Given the description of an element on the screen output the (x, y) to click on. 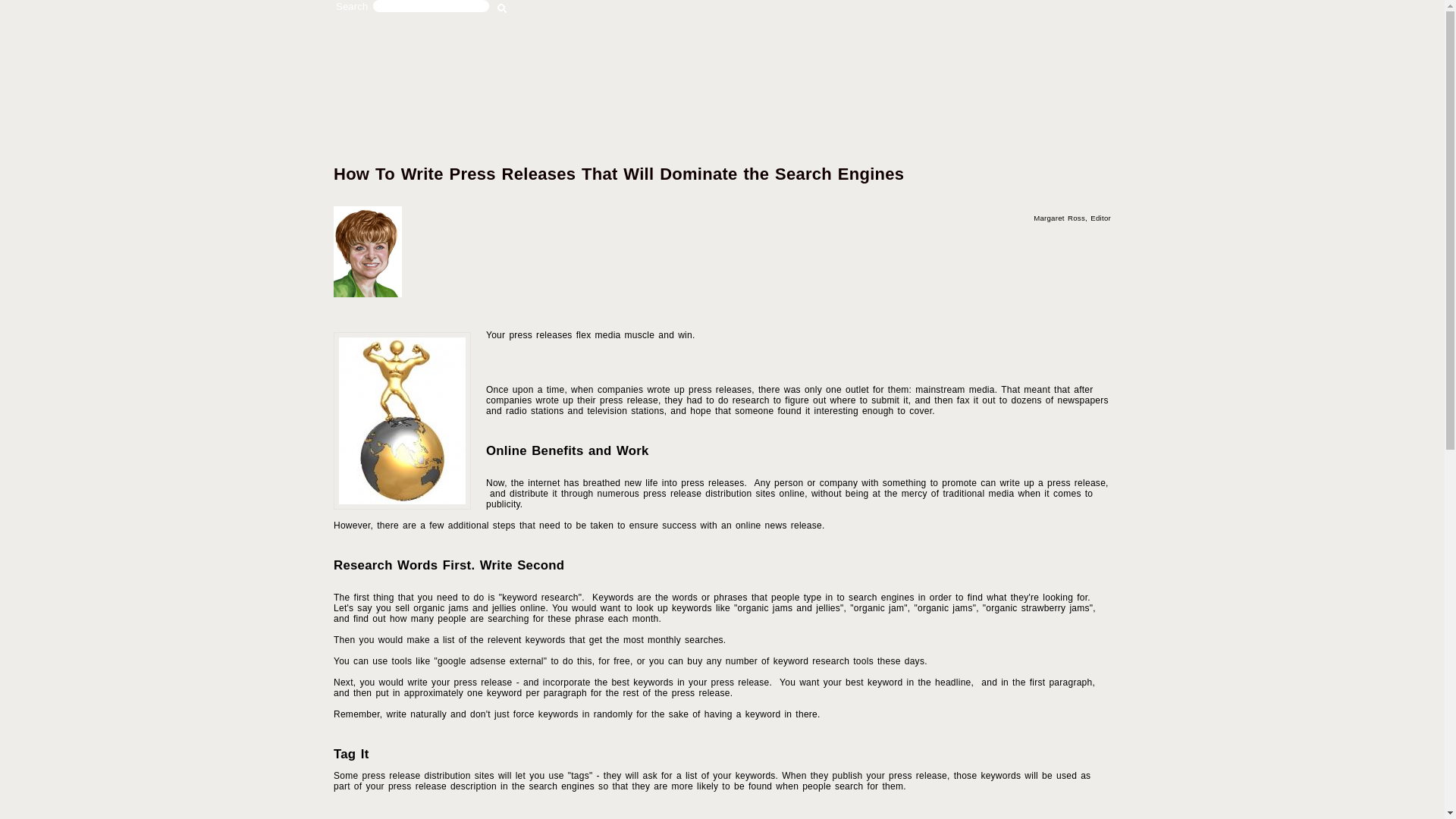
Search (502, 9)
Enter the terms you wish to search for. (430, 6)
Search (502, 9)
